Given the description of an element on the screen output the (x, y) to click on. 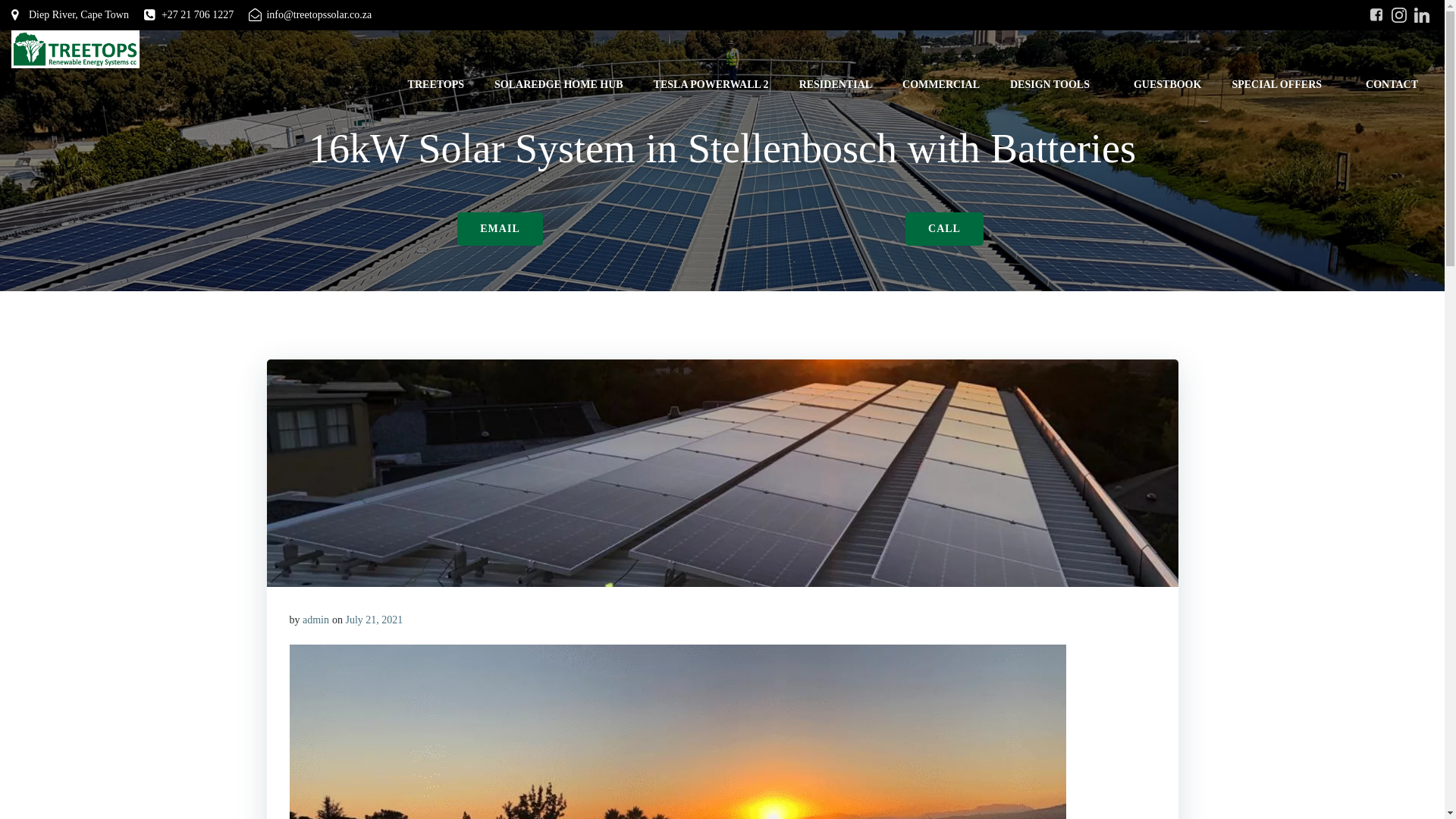
TESLA POWERWALL 2 (710, 84)
GUESTBOOK (1167, 84)
EMAIL (499, 228)
TREETOPS (435, 84)
COMMERCIAL (940, 84)
CALL (944, 228)
DESIGN TOOLS (1056, 84)
Diep River, Cape Town (70, 15)
SOLAREDGE HOME HUB (559, 84)
CONTACT (1391, 84)
